Given the description of an element on the screen output the (x, y) to click on. 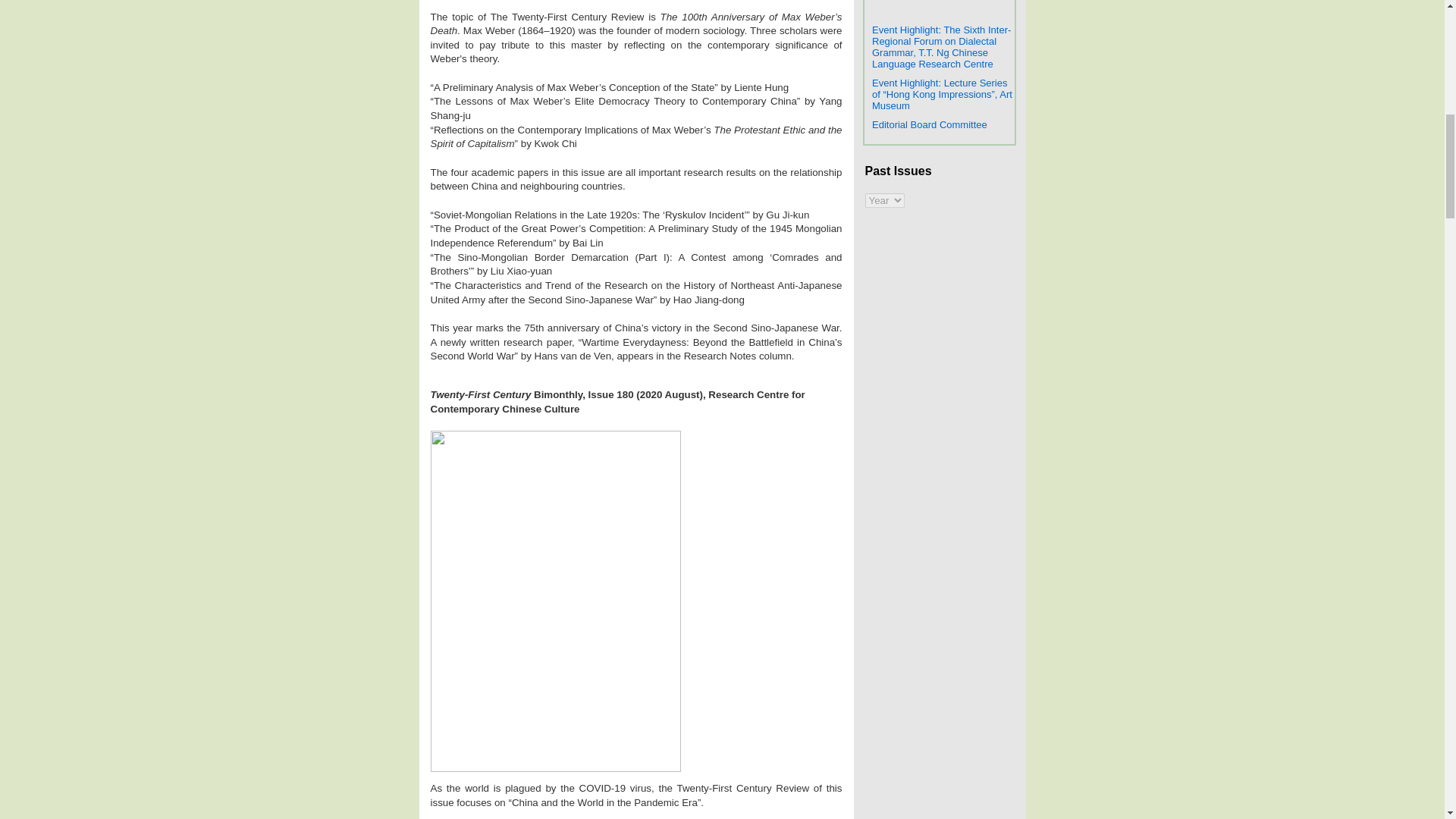
Editorial Board Committee (929, 123)
